Given the description of an element on the screen output the (x, y) to click on. 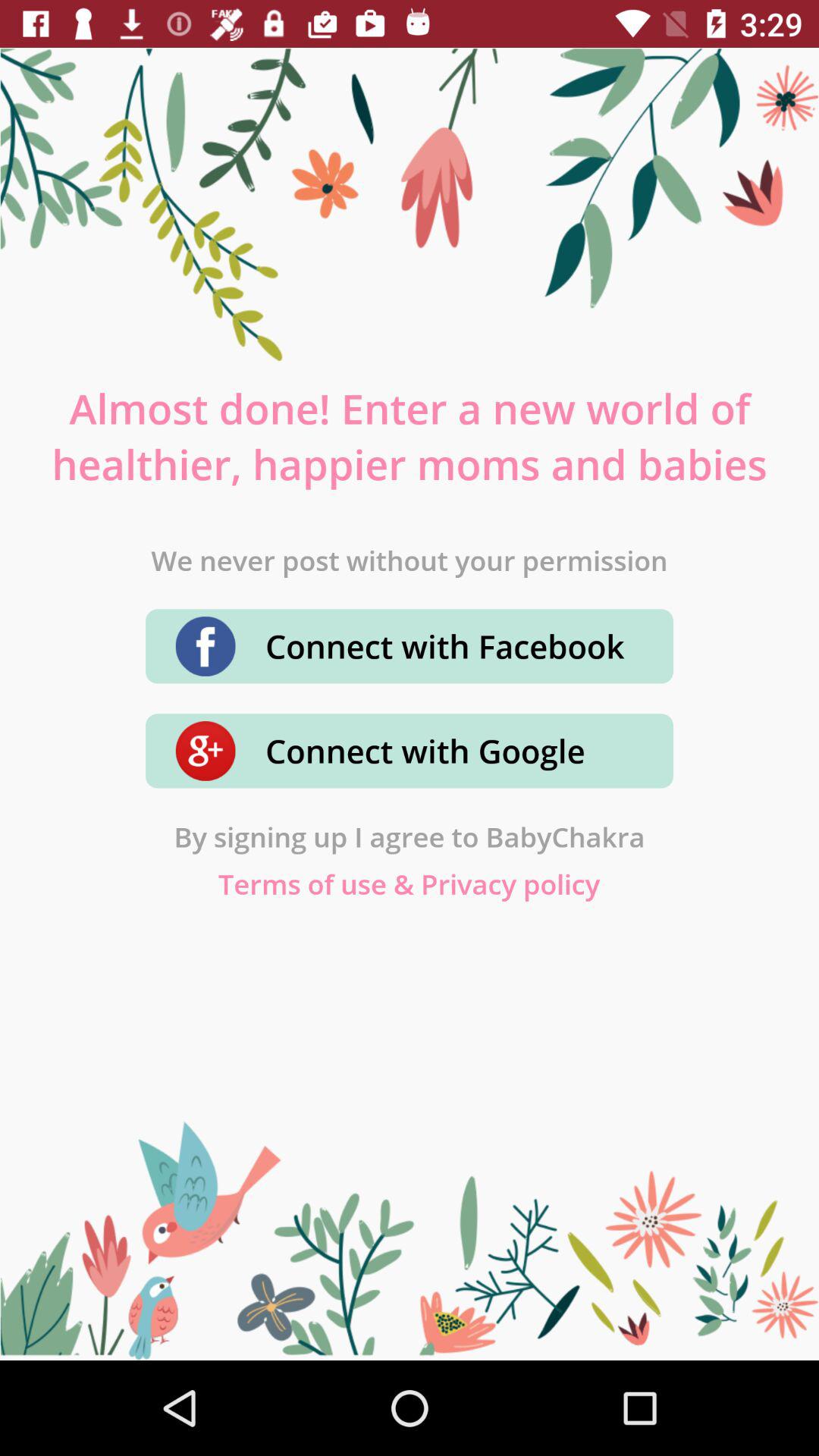
choose the terms of use (409, 883)
